Given the description of an element on the screen output the (x, y) to click on. 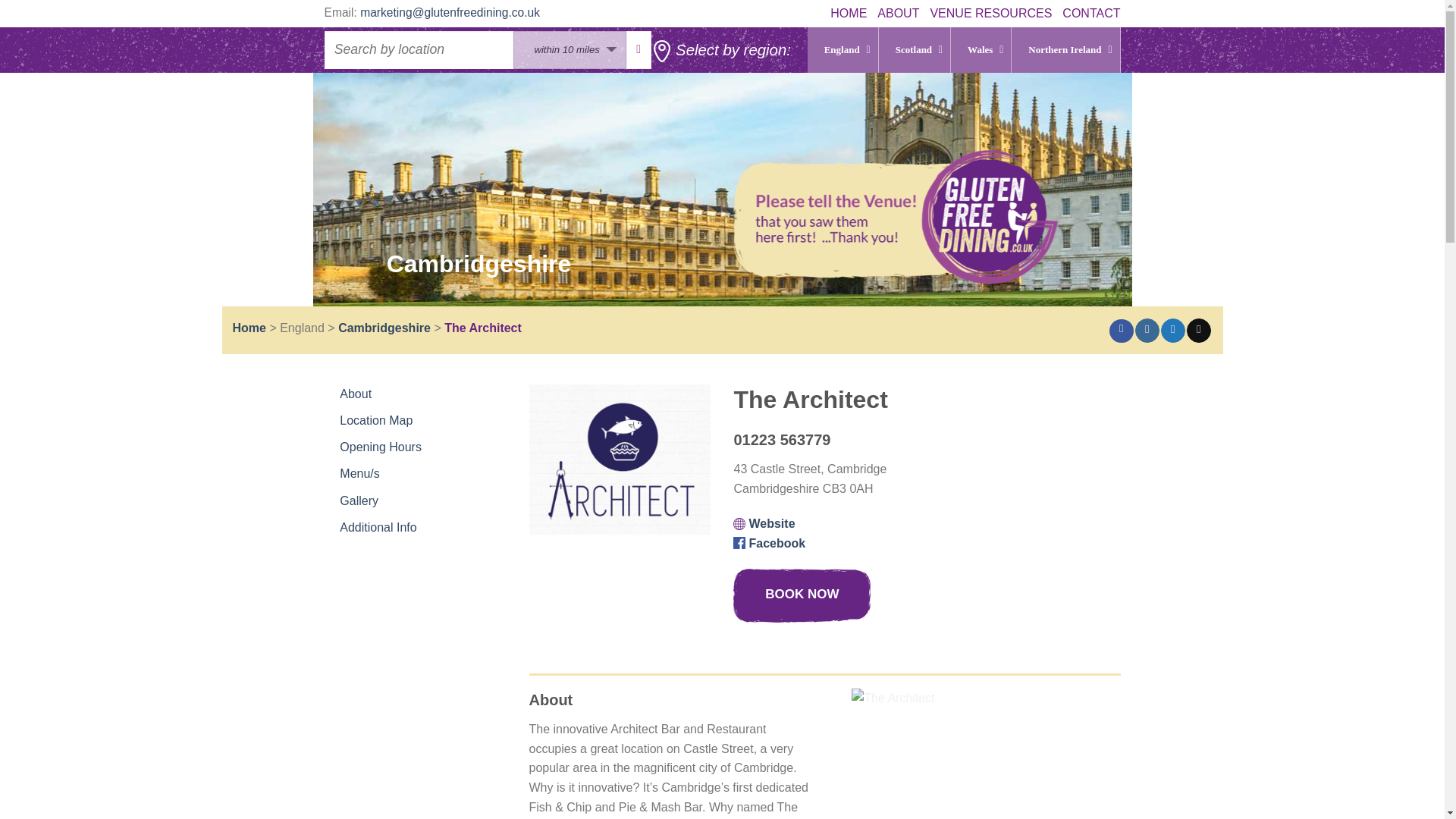
VENUE RESOURCES (990, 13)
England (843, 50)
ABOUT (897, 13)
CONTACT (1090, 13)
HOME (847, 13)
